Given the description of an element on the screen output the (x, y) to click on. 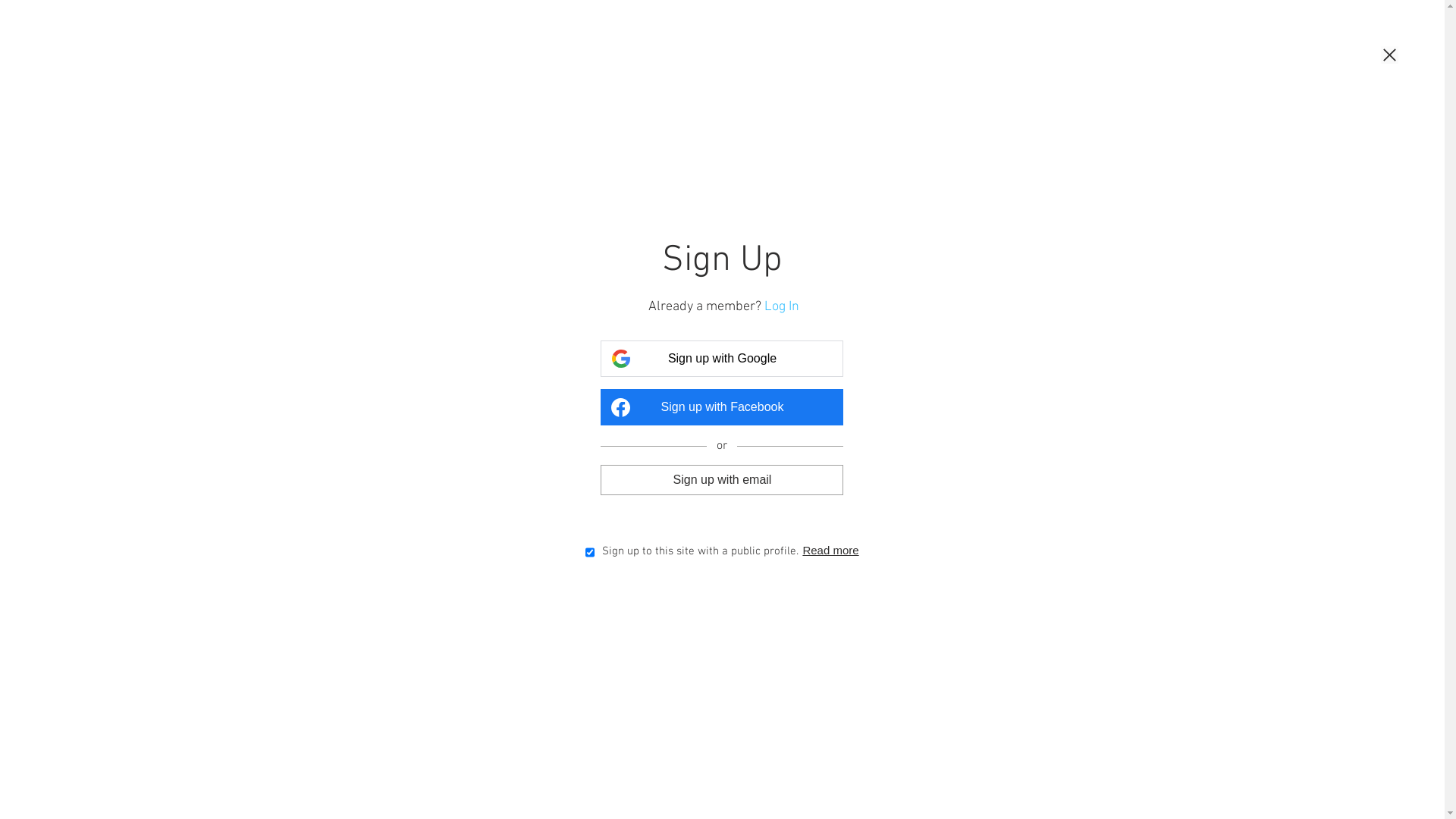
Log In Element type: text (781, 306)
Sign up with email Element type: text (721, 479)
Read more Element type: text (830, 549)
Sign up with Google Element type: text (721, 358)
Sign up with Facebook Element type: text (721, 407)
